Given the description of an element on the screen output the (x, y) to click on. 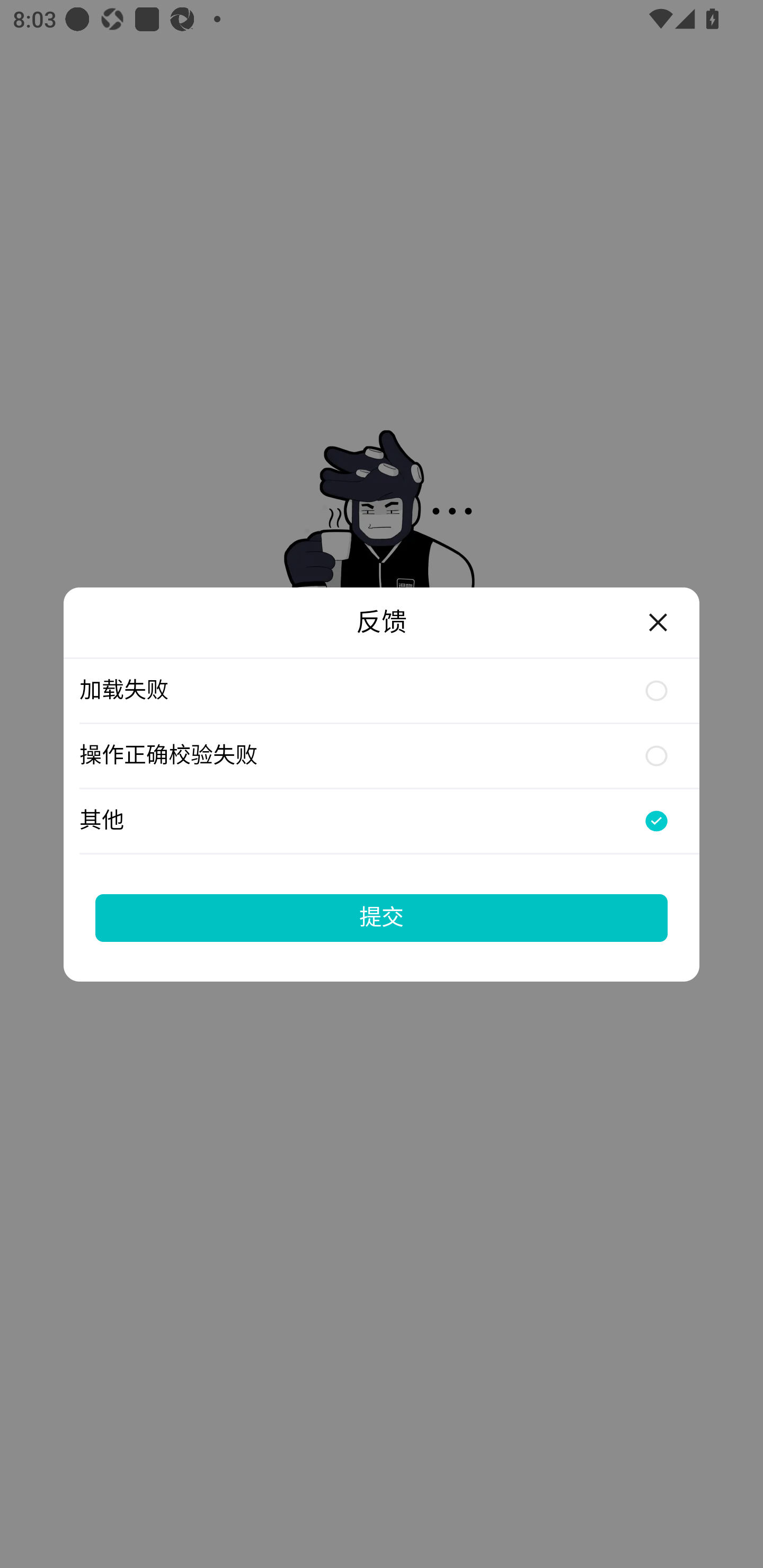
提交 (381, 917)
